Given the description of an element on the screen output the (x, y) to click on. 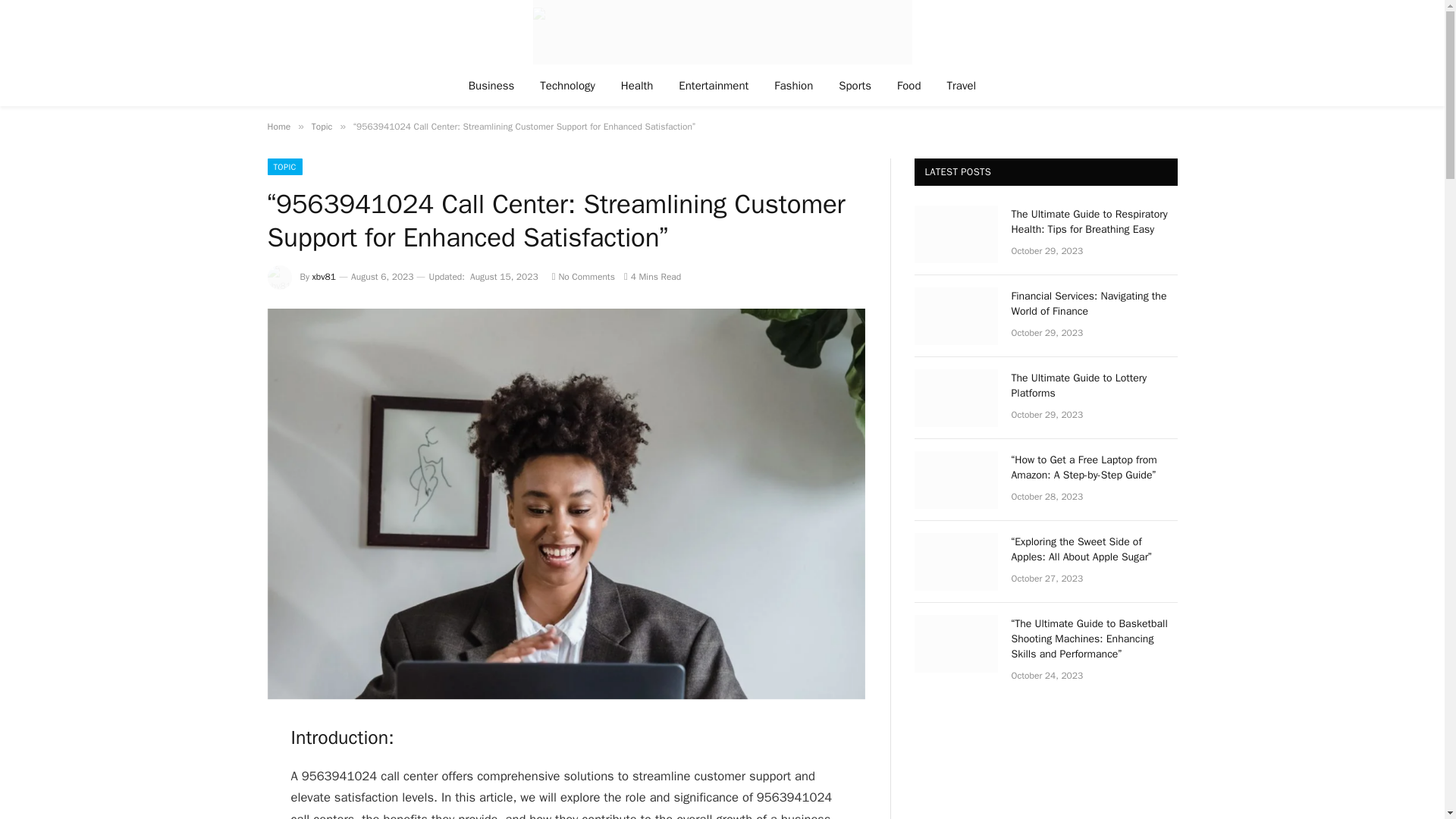
Financial Services: Navigating the World of Finance (955, 315)
No Comments (582, 276)
Home (277, 126)
TOPIC (283, 166)
Food (908, 85)
Fashion (793, 85)
Financial Services: Navigating the World of Finance (1094, 304)
Entertainment (713, 85)
